Given the description of an element on the screen output the (x, y) to click on. 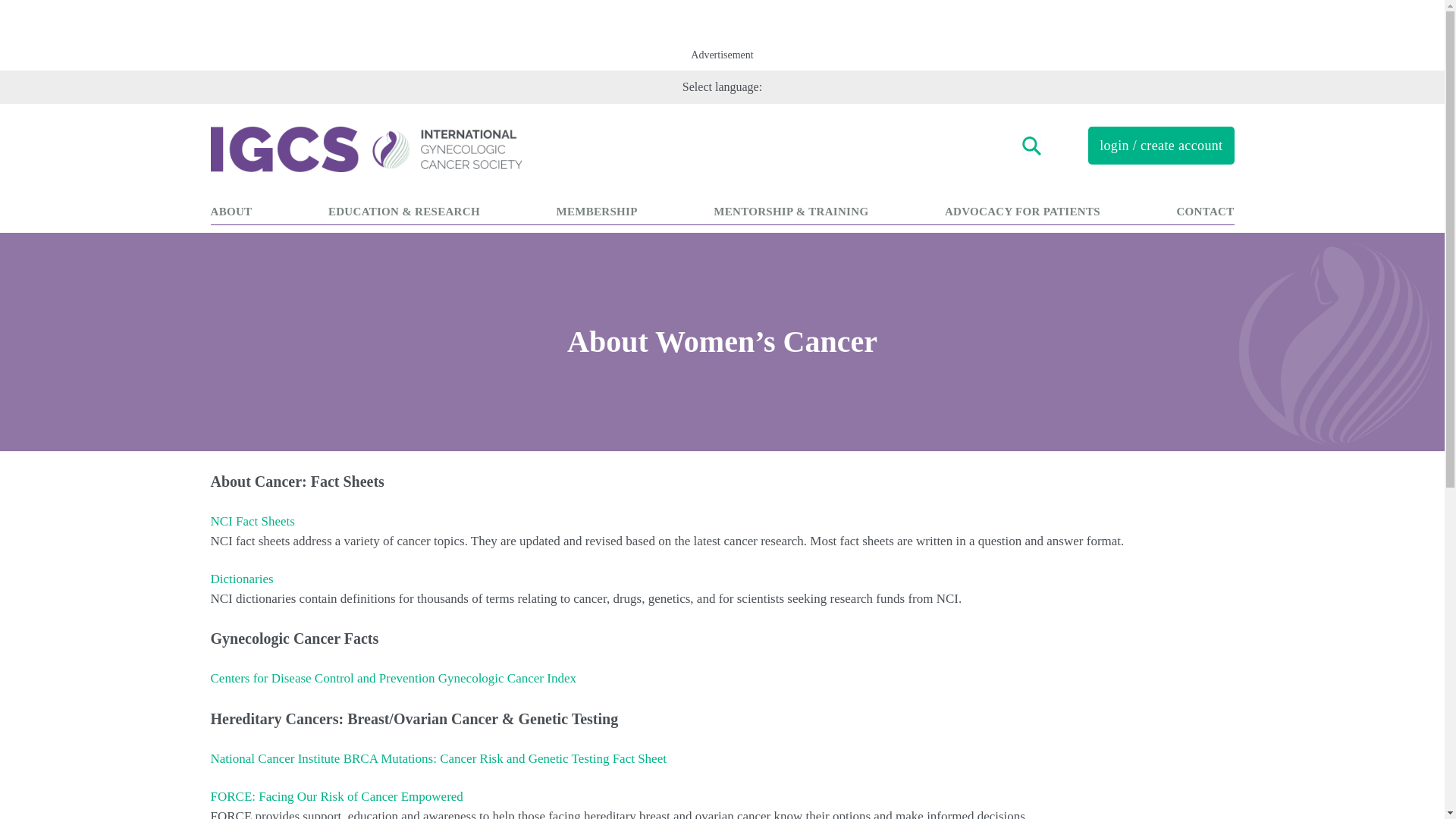
IGCS (466, 148)
ABOUT (231, 211)
MEMBERSHIP (596, 211)
IGCS (466, 148)
ADVOCACY FOR PATIENTS (1022, 211)
